Given the description of an element on the screen output the (x, y) to click on. 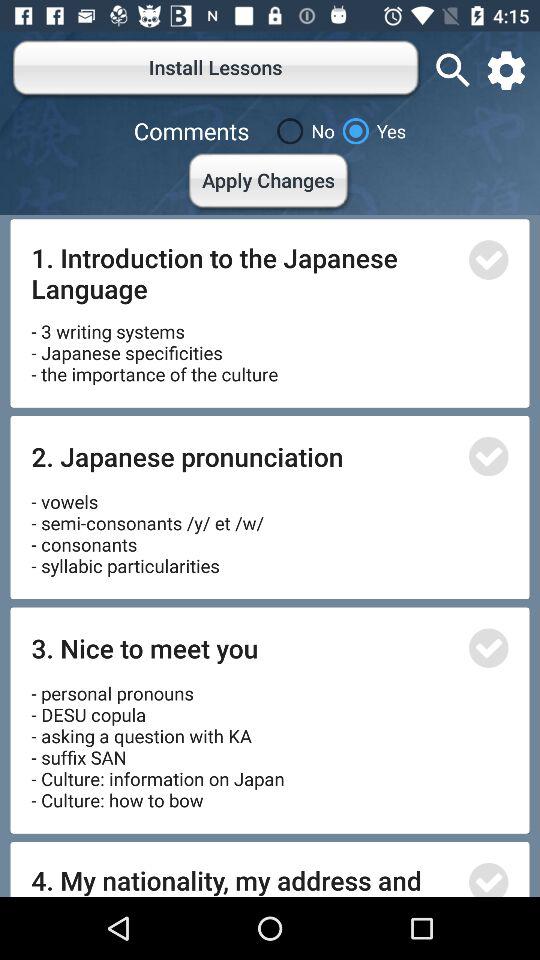
select lesson (488, 647)
